Given the description of an element on the screen output the (x, y) to click on. 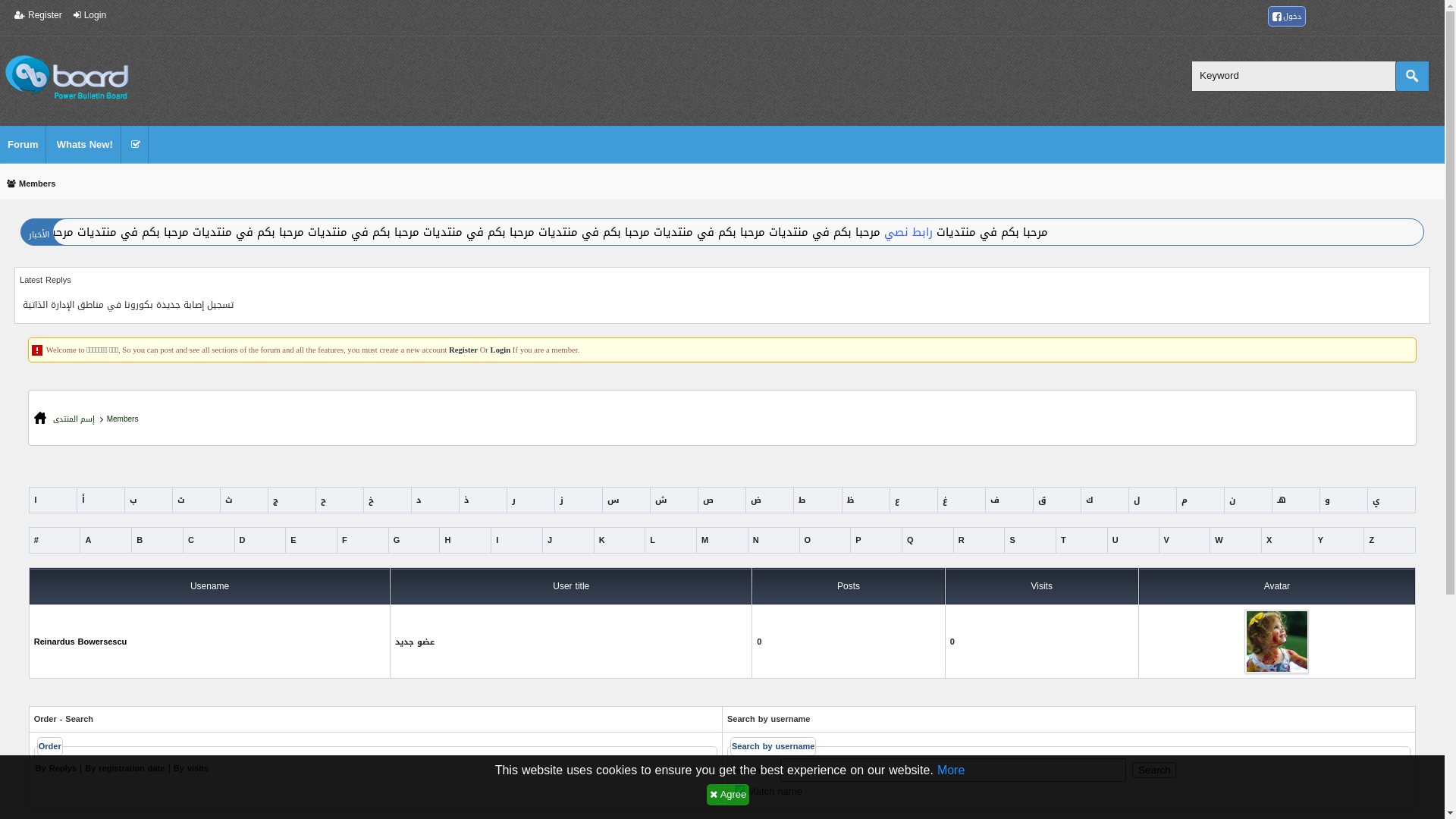
N Element type: text (756, 540)
Reinardus Bowersescu Element type: text (80, 641)
X Element type: text (1268, 540)
By visits Element type: text (190, 768)
G Element type: text (396, 540)
Agree Element type: text (727, 794)
F Element type: text (344, 540)
V Element type: text (1166, 540)
Z Element type: text (1371, 540)
Members Element type: text (122, 418)
M Element type: text (704, 540)
D Element type: text (242, 540)
Keyword Element type: text (1294, 75)
More Element type: text (950, 769)
O Element type: text (806, 540)
# Element type: text (36, 540)
H Element type: text (447, 540)
R Element type: text (961, 540)
By Replys Element type: text (55, 768)
U Element type: text (1115, 540)
I Element type: text (496, 540)
C Element type: text (191, 540)
 Image Reinardus Bowersescu Personal  Element type: hover (1276, 641)
L Element type: text (652, 540)
Register Element type: text (462, 349)
K Element type: text (602, 540)
B Element type: text (139, 540)
Q Element type: text (909, 540)
S Element type: text (1011, 540)
Whats New! Element type: text (84, 149)
By registration date Element type: text (124, 768)
P Element type: text (857, 540)
T Element type: text (1063, 540)
Login Element type: text (500, 349)
Search Element type: hover (1412, 75)
W Element type: text (1218, 540)
Y Element type: text (1320, 540)
J Element type: text (549, 540)
E Element type: text (292, 540)
Members Element type: text (31, 184)
A Element type: text (87, 540)
Search Element type: text (1154, 770)
Register Element type: text (38, 15)
Forum Element type: text (22, 149)
